Given the description of an element on the screen output the (x, y) to click on. 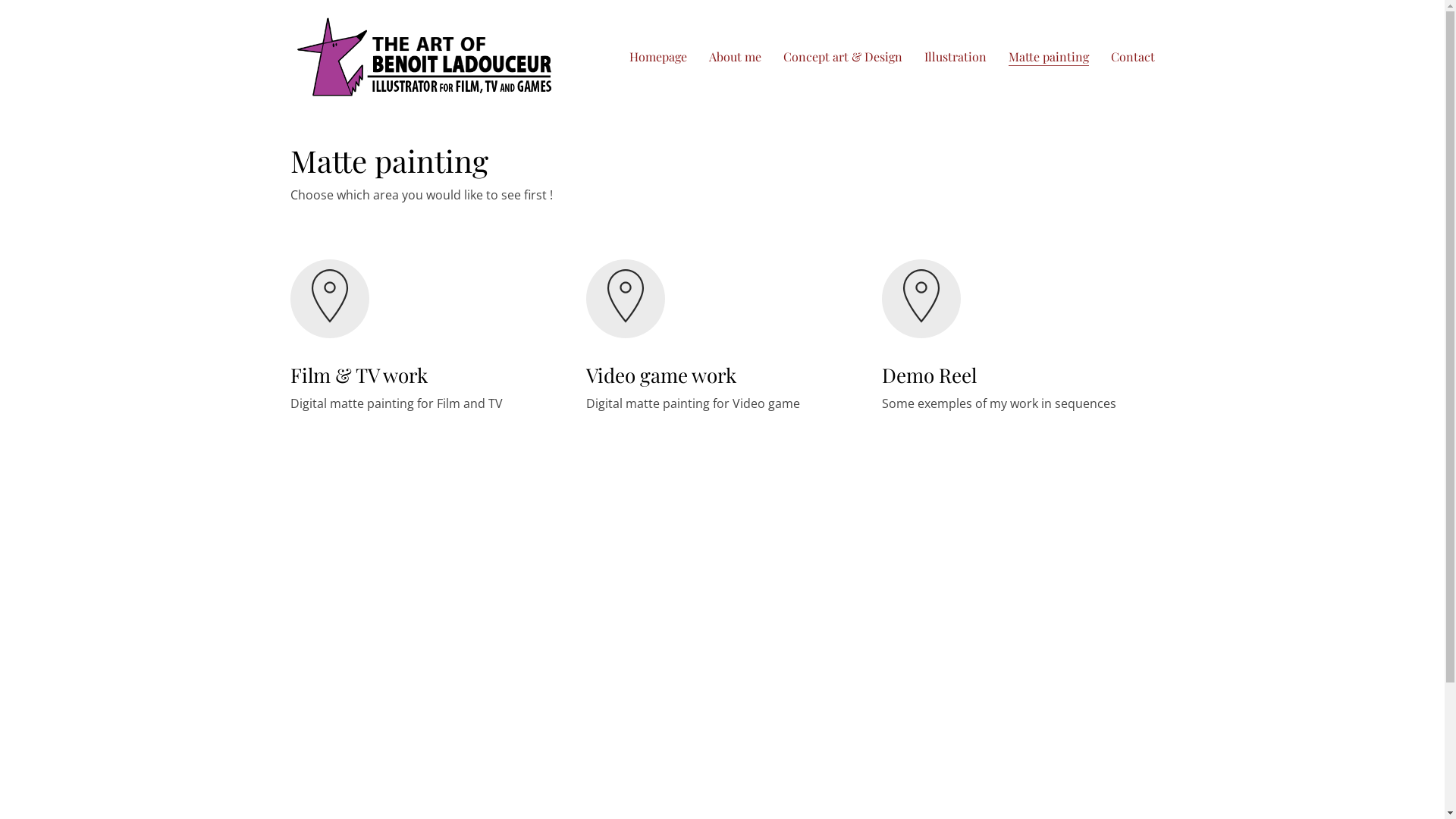
Contact Element type: text (1132, 56)
Film Work Element type: hover (329, 298)
Matte painting Element type: text (1048, 56)
Instagram Element type: hover (1402, 773)
Homepage Element type: text (658, 56)
YouTube Element type: hover (1326, 773)
SoundCloud Element type: hover (1364, 773)
Twitter Element type: hover (1289, 773)
Video game Work Element type: hover (624, 298)
Demo Reel Element type: hover (920, 298)
Facebook Element type: hover (1251, 773)
Concept art & Design Element type: text (841, 56)
Illustration Element type: text (954, 56)
About me Element type: text (734, 56)
